Given the description of an element on the screen output the (x, y) to click on. 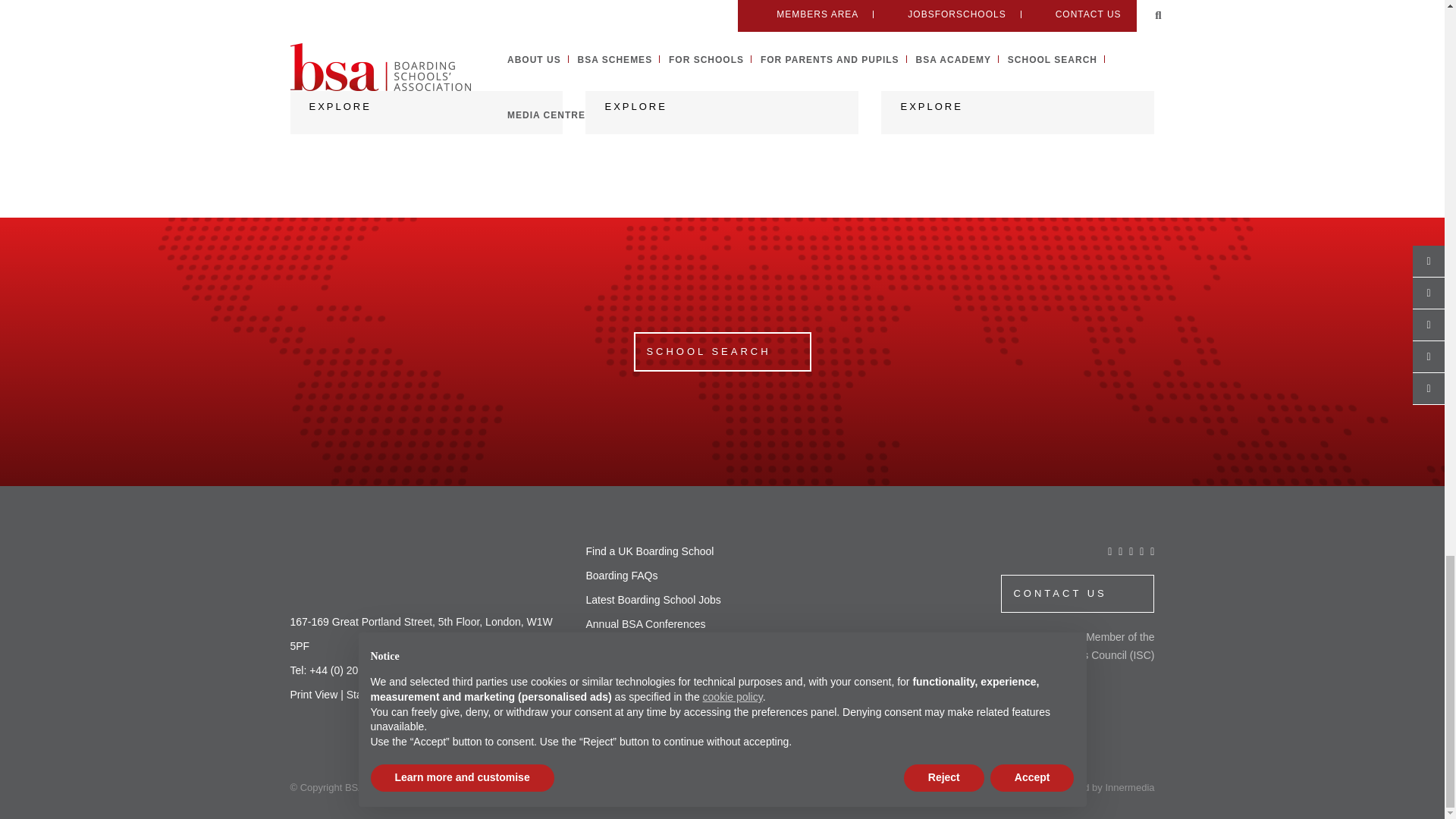
Switch to Print (313, 694)
Switch to Standard Visibility (380, 694)
Switch to High Visibility (454, 694)
